Given the description of an element on the screen output the (x, y) to click on. 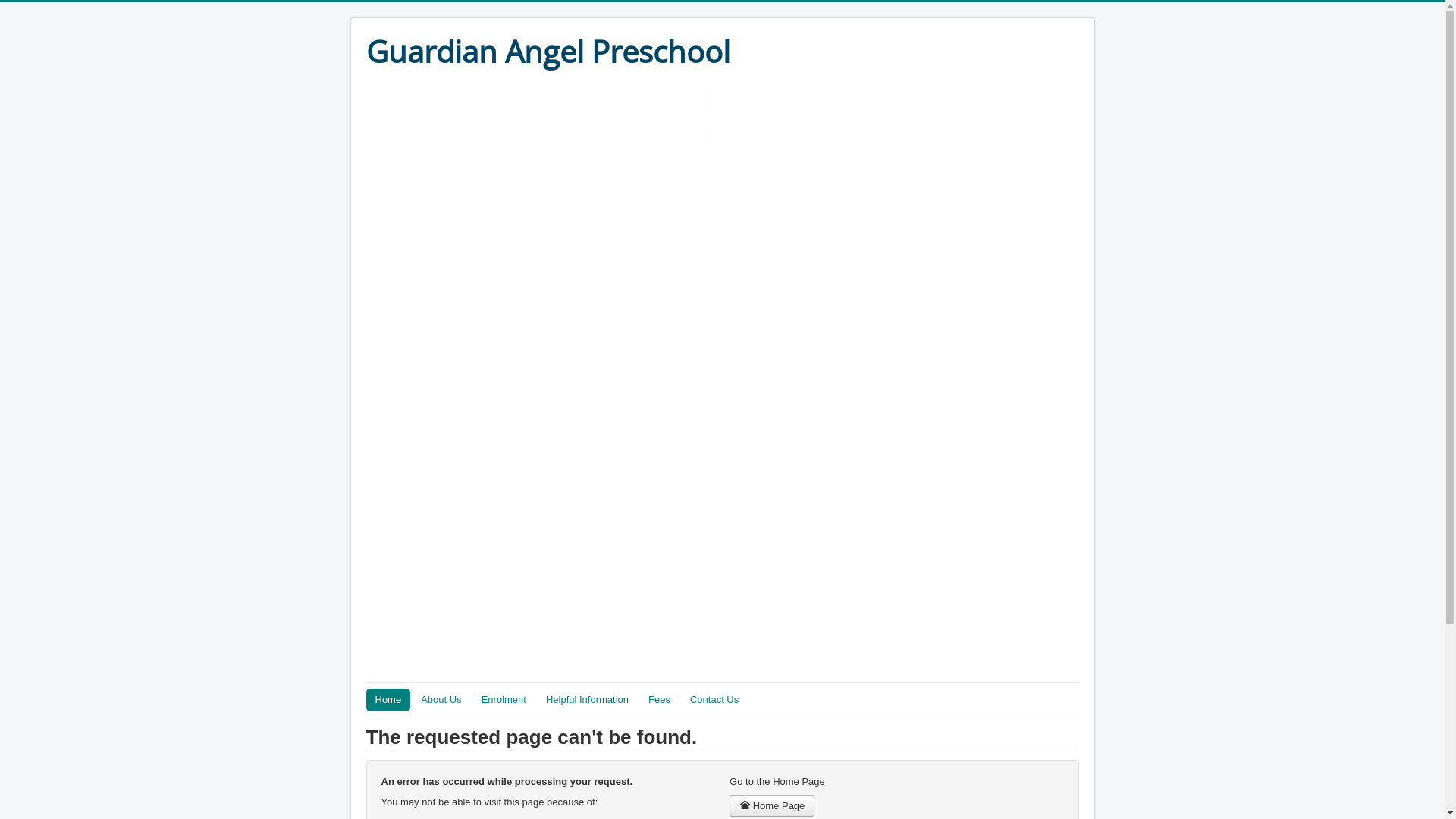
Home Element type: text (387, 699)
About Us Element type: text (440, 699)
Contact Us Element type: text (713, 699)
Helpful Information Element type: text (586, 699)
Enrolment Element type: text (503, 699)
Home Page Element type: text (771, 805)
Fees Element type: text (659, 699)
Guardian Angel Preschool Element type: text (547, 51)
